Given the description of an element on the screen output the (x, y) to click on. 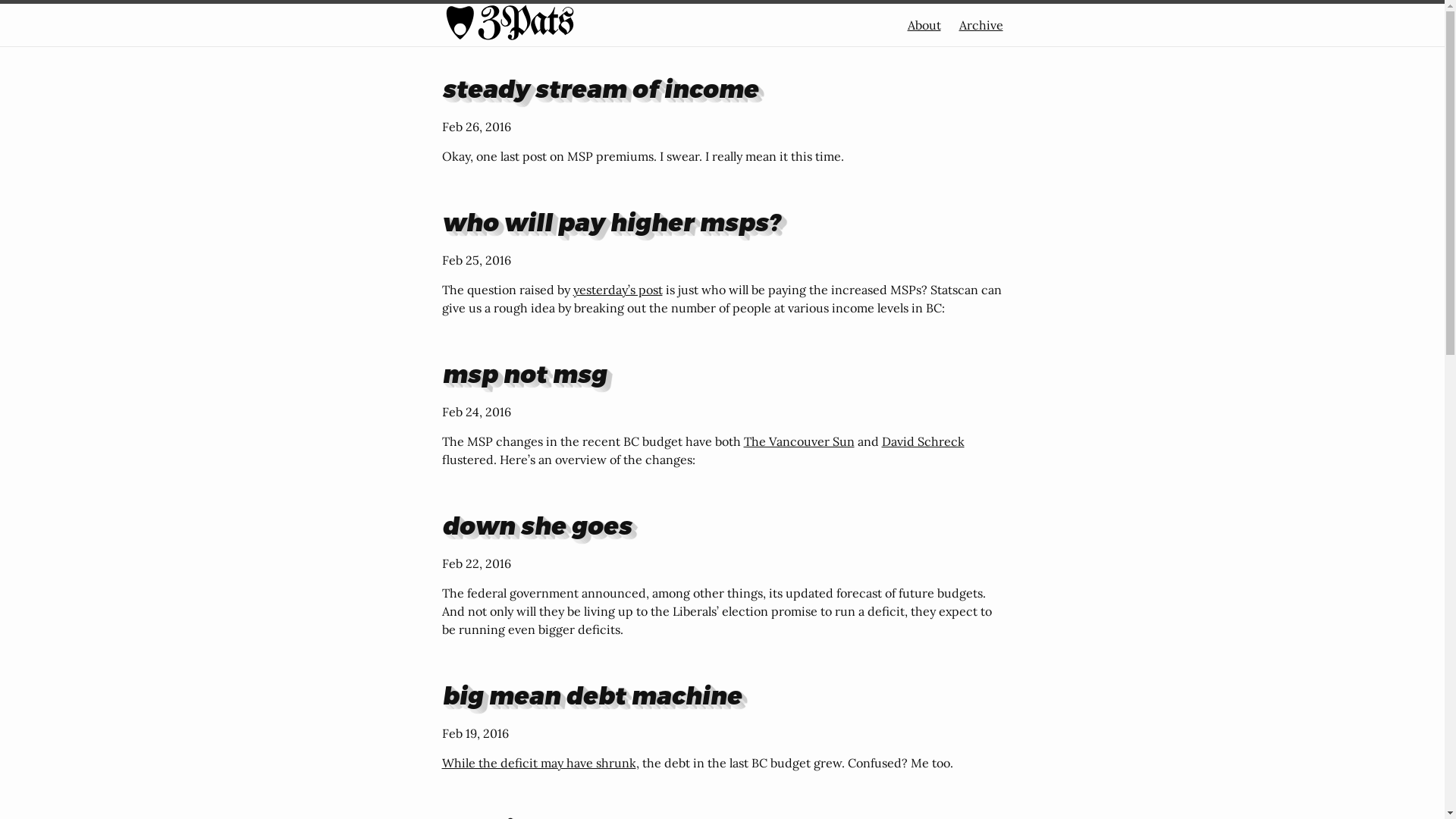
steady stream of income Element type: text (599, 87)
About Element type: text (923, 24)
who will pay higher msps? Element type: text (610, 221)
down she goes Element type: text (535, 524)
David Schreck Element type: text (922, 440)
While the deficit may have shrunk Element type: text (538, 762)
The Vancouver Sun Element type: text (798, 440)
big mean debt machine Element type: text (590, 694)
Archive Element type: text (980, 24)
msp not msg Element type: text (523, 372)
